Given the description of an element on the screen output the (x, y) to click on. 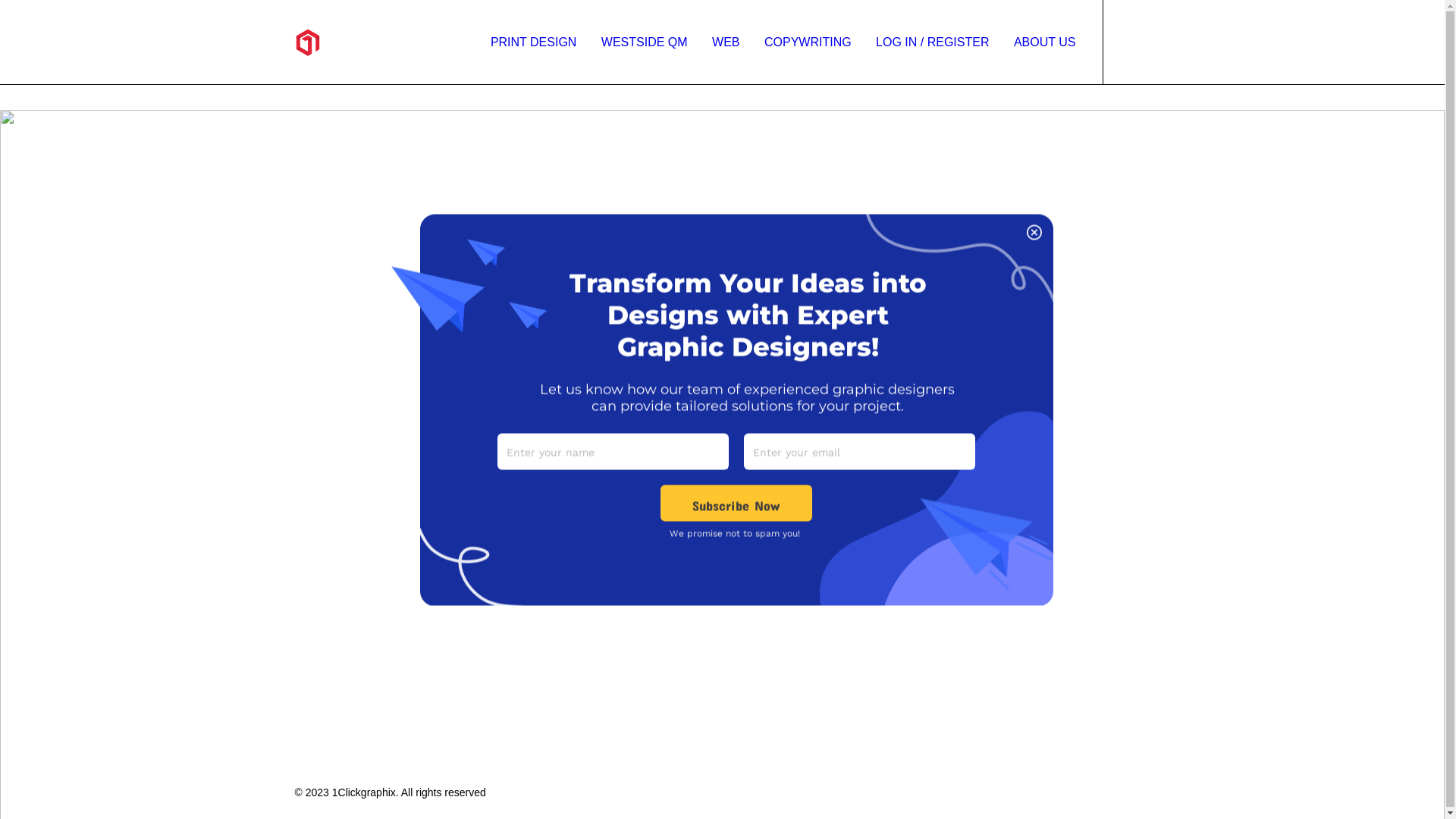
ABOUT US Element type: text (1039, 42)
WESTSIDE QM Element type: text (644, 42)
LOG IN / REGISTER Element type: text (932, 42)
WEB Element type: text (725, 42)
PRINT DESIGN Element type: text (533, 42)
COPYWRITING Element type: text (807, 42)
cart Element type: hover (1191, 42)
